Given the description of an element on the screen output the (x, y) to click on. 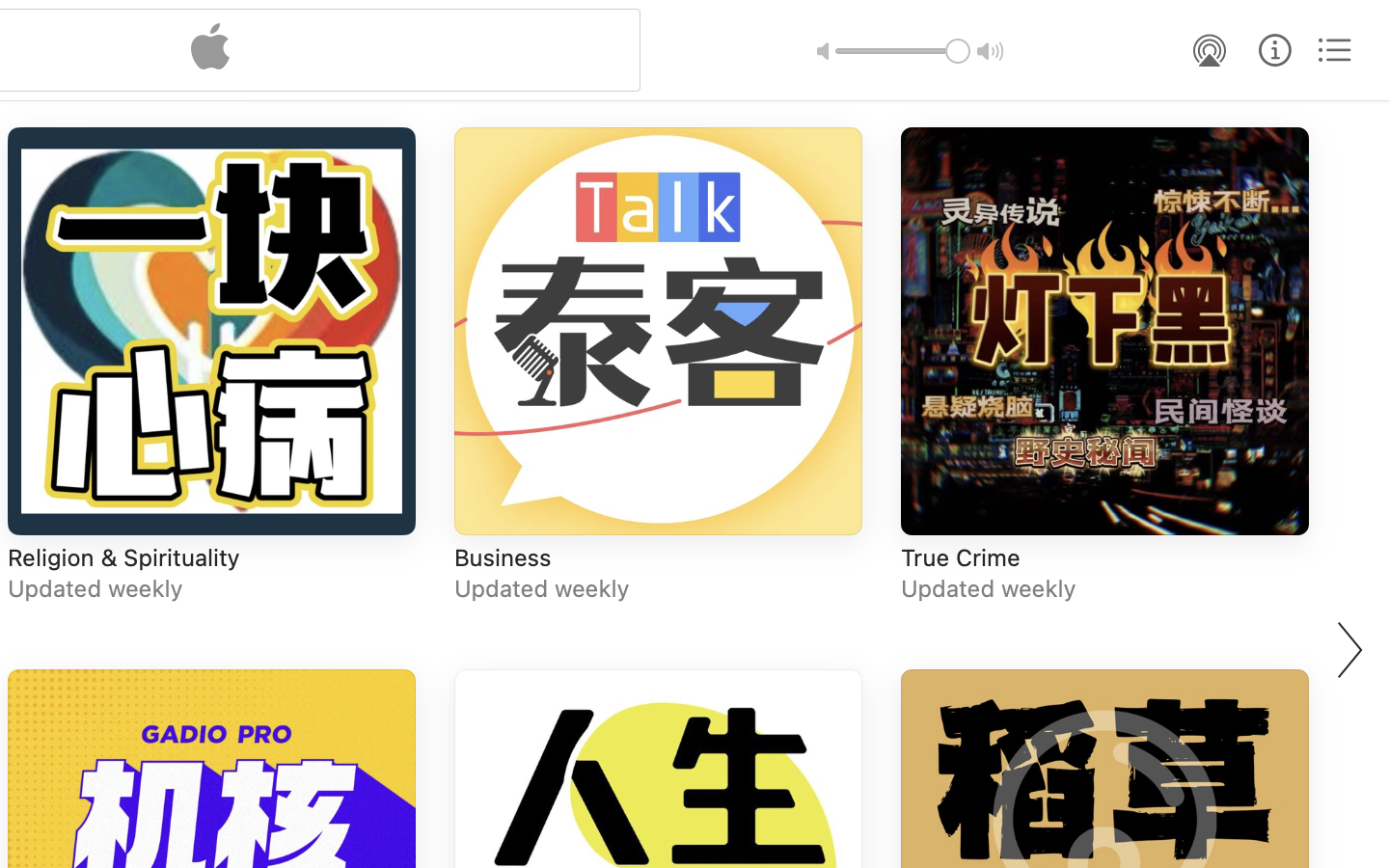
1.0 Element type: AXSlider (902, 50)
